Given the description of an element on the screen output the (x, y) to click on. 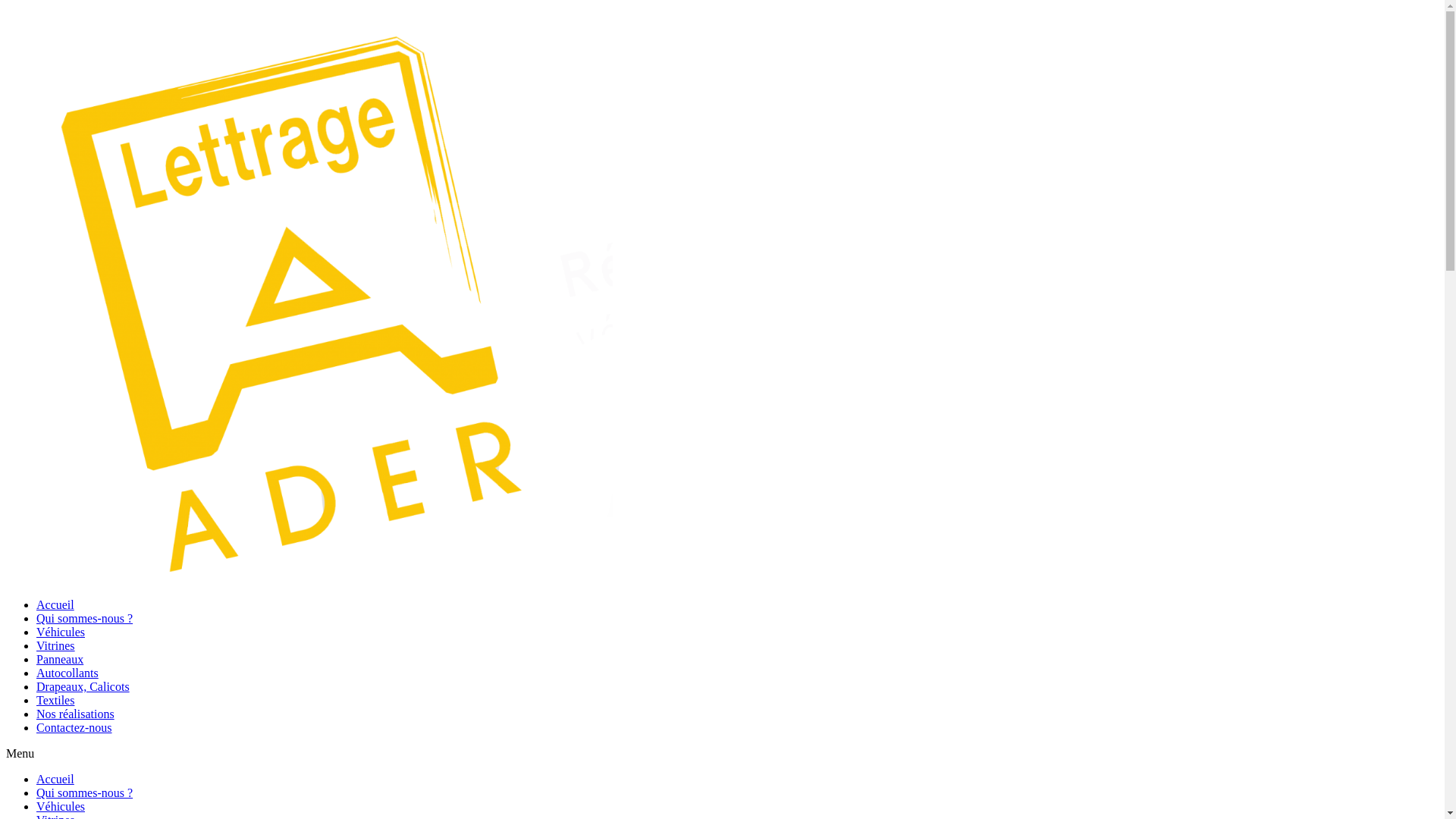
Drapeaux, Calicots Element type: text (82, 686)
Contactez-nous Element type: text (74, 727)
Vitrines Element type: text (55, 645)
Accueil Element type: text (55, 778)
Qui sommes-nous ? Element type: text (84, 792)
Autocollants Element type: text (67, 672)
Textiles Element type: text (55, 699)
Panneaux Element type: text (59, 658)
Accueil Element type: text (55, 604)
Qui sommes-nous ? Element type: text (84, 617)
